Given the description of an element on the screen output the (x, y) to click on. 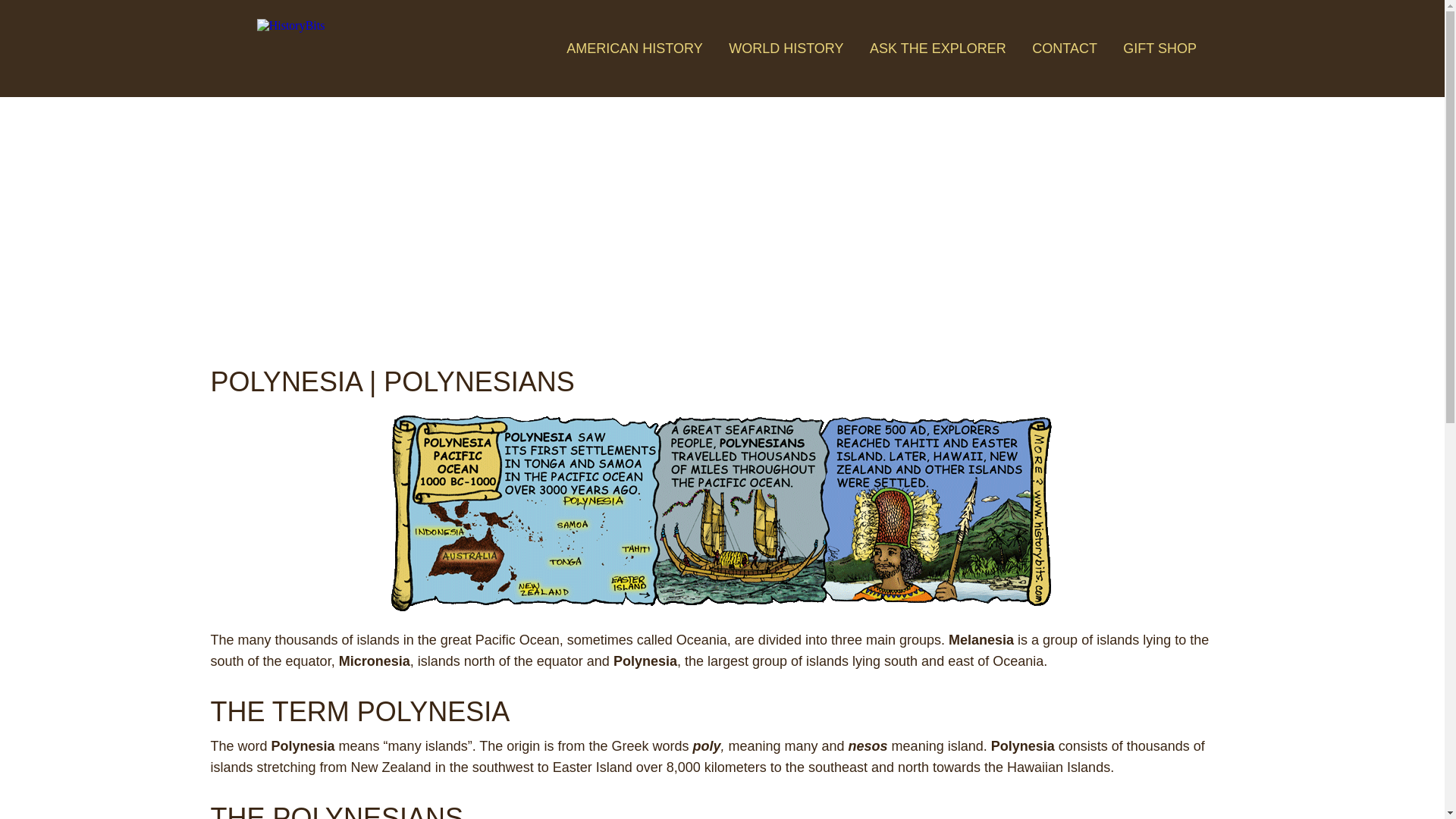
GIFT SHOP (1159, 48)
AMERICAN HISTORY (634, 48)
CONTACT (1065, 48)
WORLD HISTORY (785, 48)
ASK THE EXPLORER (937, 48)
